Given the description of an element on the screen output the (x, y) to click on. 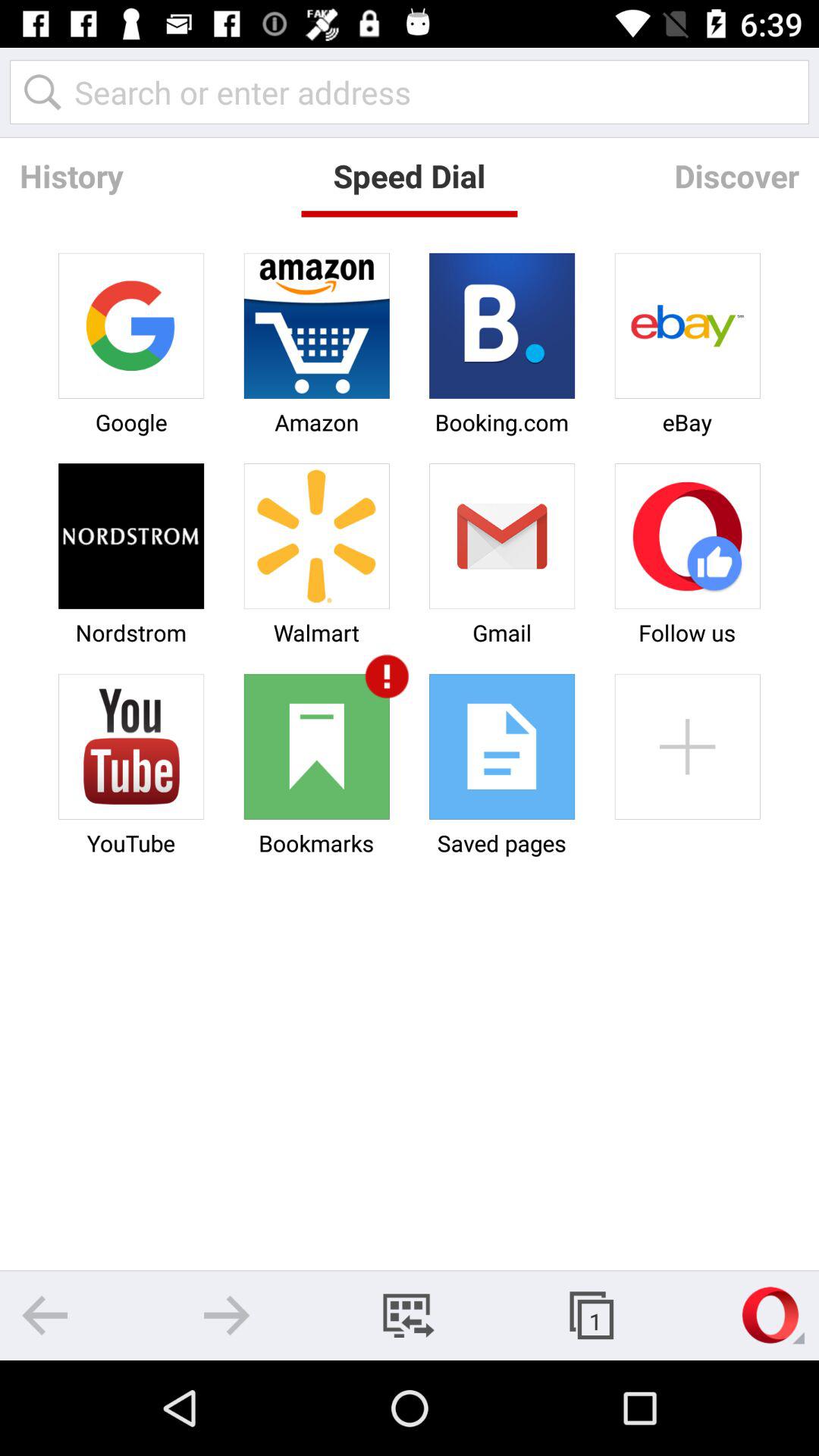
open the discover icon (736, 175)
